Given the description of an element on the screen output the (x, y) to click on. 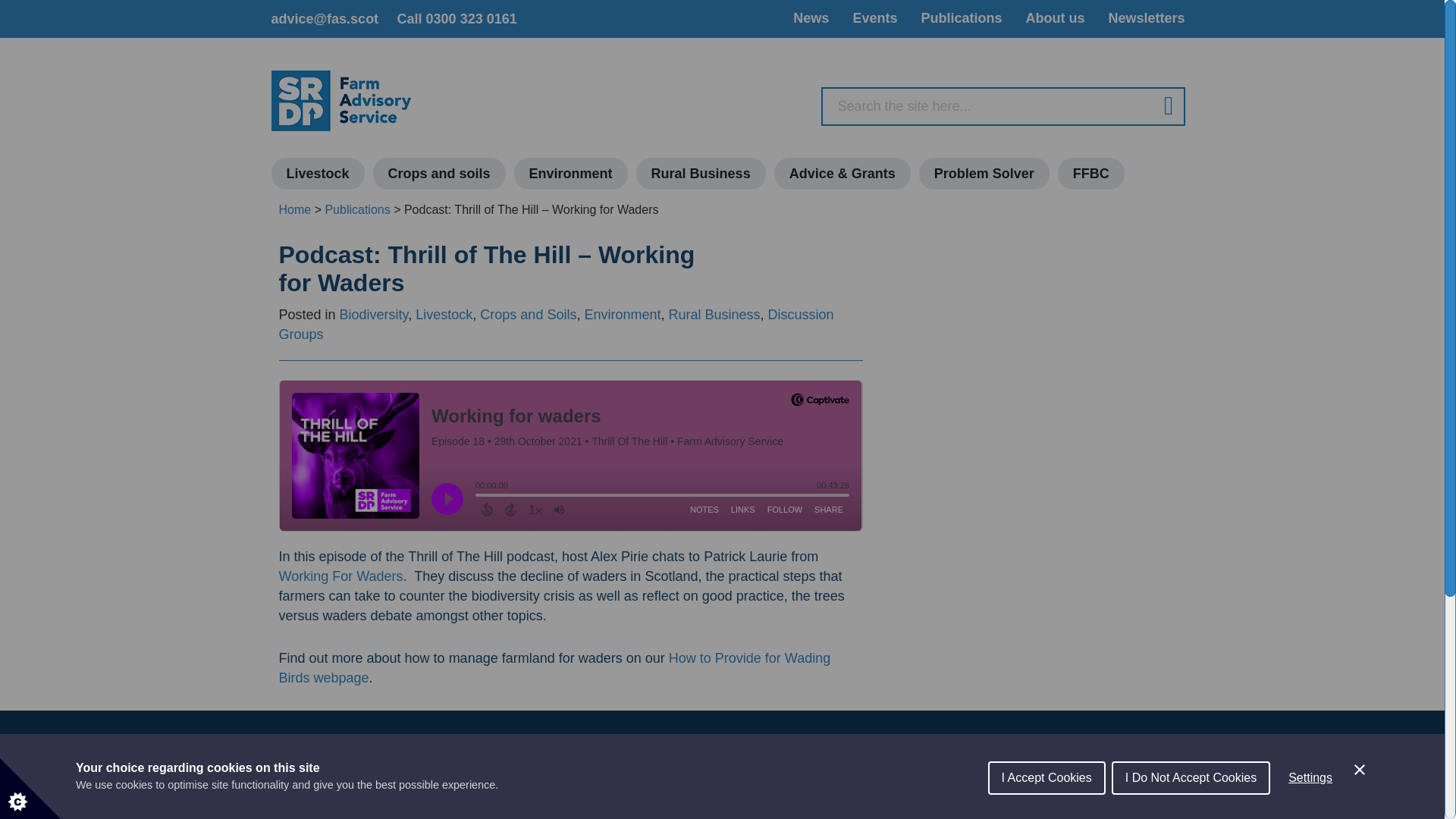
I Do Not Accept Cookies (1190, 808)
fas-logo (341, 100)
Rural Business (700, 173)
News (810, 17)
Publications (960, 17)
Crops and soils (438, 173)
Search (1161, 105)
Call 0300 323 0161 (456, 18)
Settings (1309, 806)
Submit (1154, 792)
Newsletters (1146, 17)
Environment (570, 173)
About us (1054, 17)
Search (1161, 105)
Search (1161, 105)
